Given the description of an element on the screen output the (x, y) to click on. 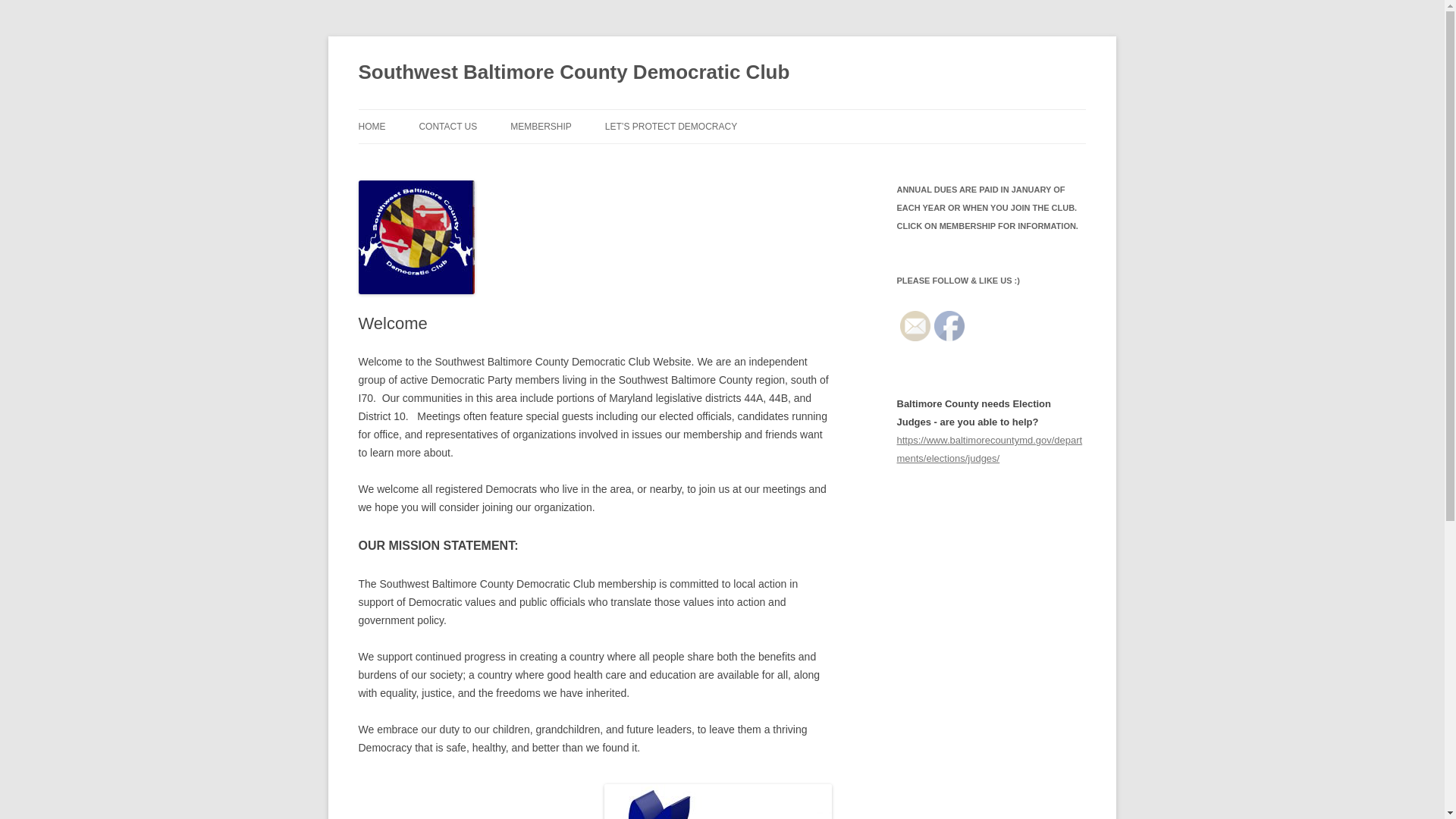
MEMBERSHIP (541, 126)
Follow by Email (914, 326)
THREATS TO DEMOCRACY (681, 158)
Southwest Baltimore County Democratic Club (573, 72)
CONTACT US (448, 126)
Facebook (948, 326)
